Given the description of an element on the screen output the (x, y) to click on. 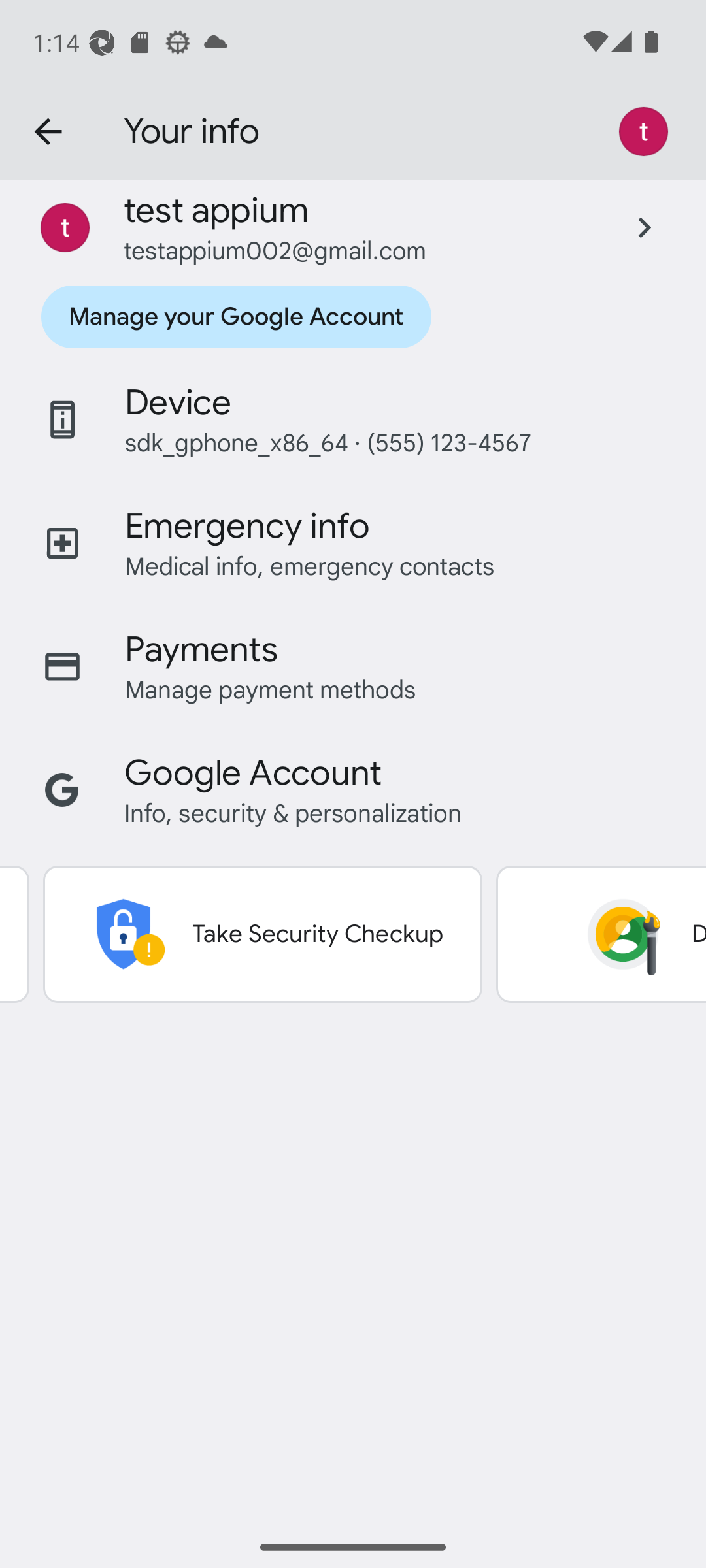
Navigate up (48, 131)
Manage your Google Account (235, 316)
Device sdk_gphone_x86_64 · (555) 123-4567 (353, 419)
Emergency info Medical info, emergency contacts (353, 543)
Payments Manage payment methods (353, 667)
Google Account Info, security & personalization (353, 790)
Take Security Checkup (262, 934)
